Given the description of an element on the screen output the (x, y) to click on. 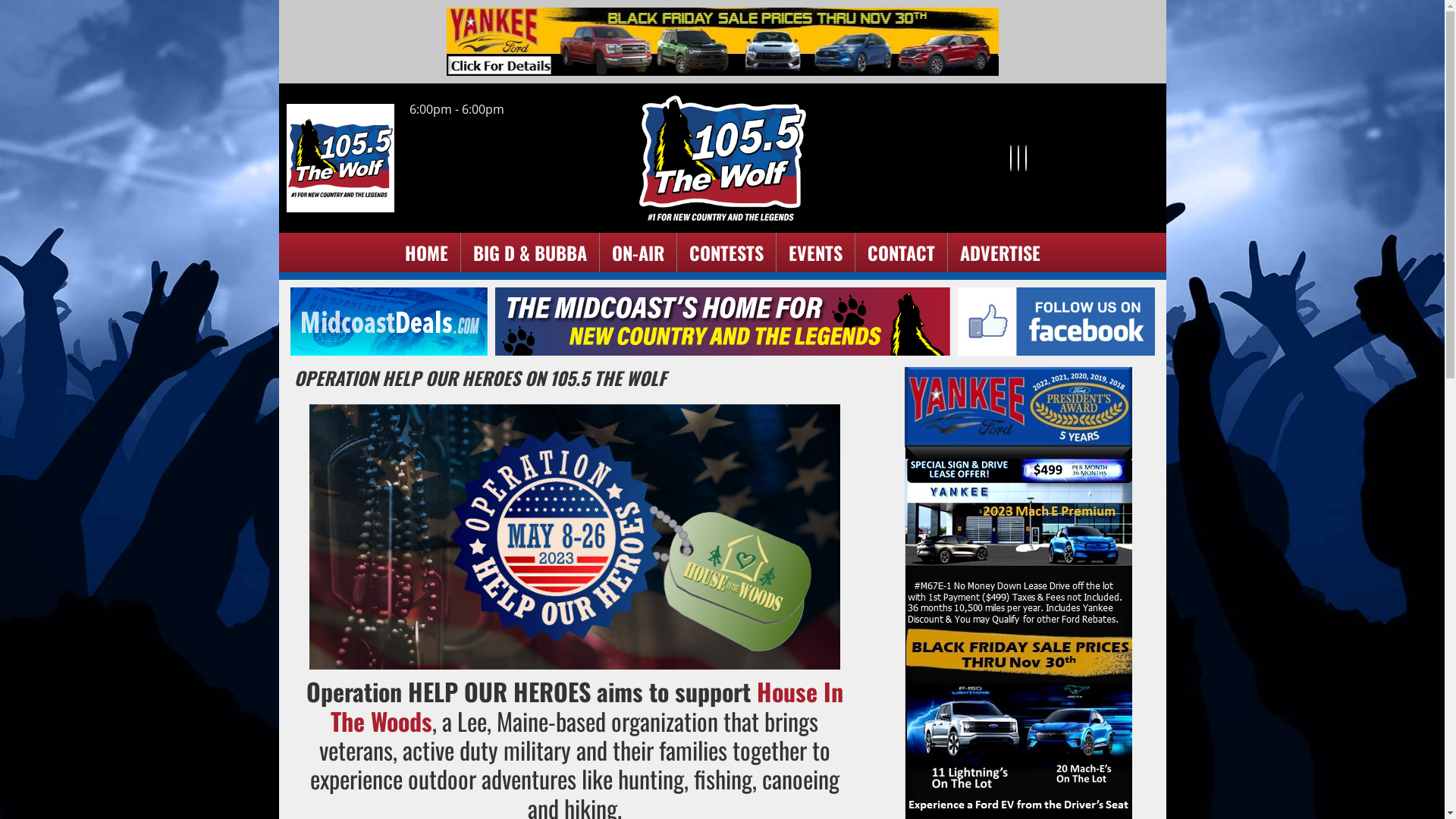
ON-AIR Element type: text (637, 252)
BIG D & BUBBA Element type: text (530, 252)
House In The Woods Element type: text (586, 705)
ADVERTISE Element type: text (999, 252)
CONTACT Element type: text (901, 252)
HOME Element type: text (426, 252)
CONTESTS Element type: text (725, 252)
EVENTS Element type: text (815, 252)
